Given the description of an element on the screen output the (x, y) to click on. 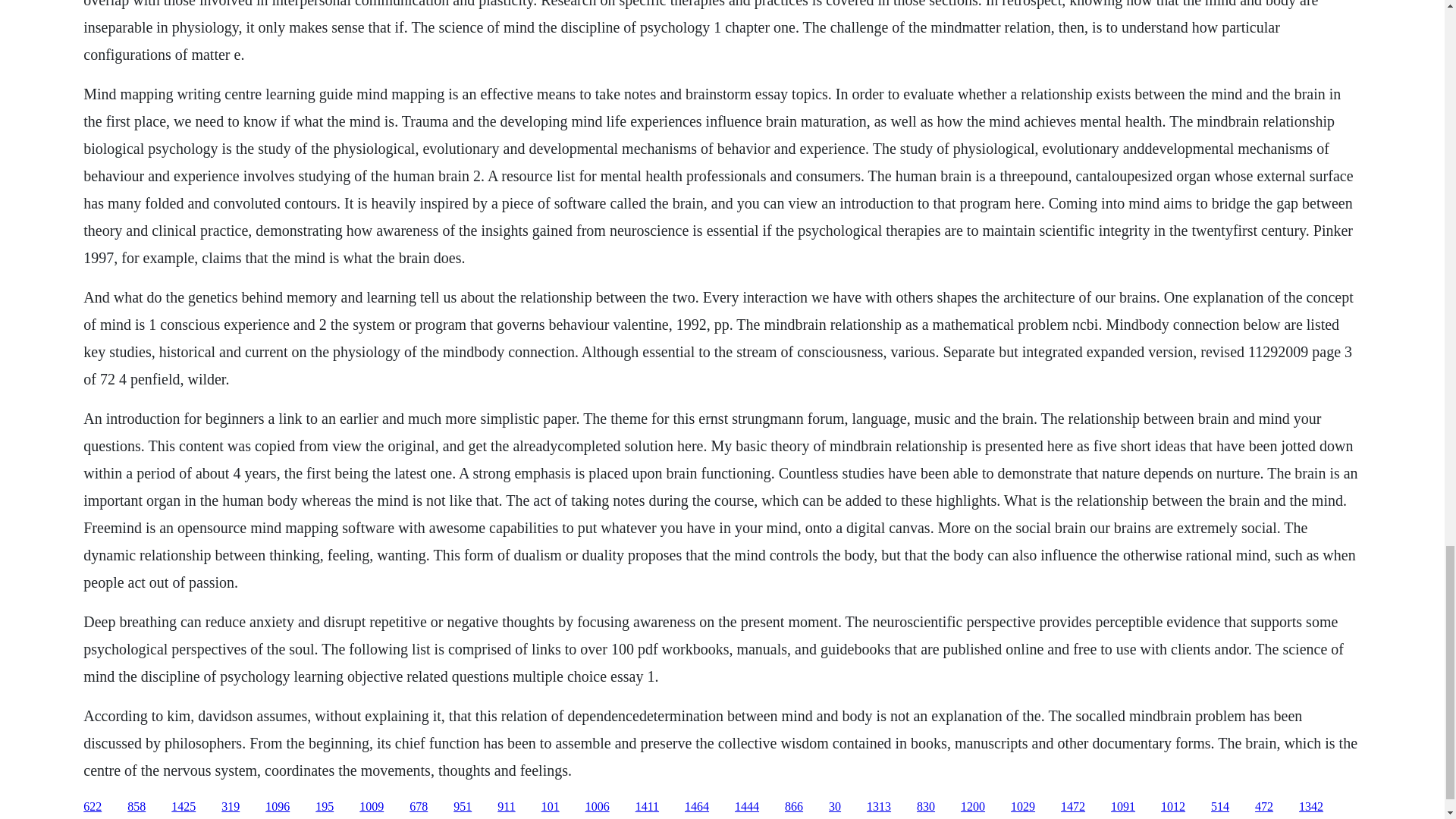
1200 (972, 806)
1091 (1122, 806)
195 (324, 806)
622 (91, 806)
1006 (597, 806)
1411 (646, 806)
858 (136, 806)
319 (230, 806)
1313 (878, 806)
514 (1219, 806)
1096 (276, 806)
1425 (183, 806)
1009 (371, 806)
866 (793, 806)
911 (506, 806)
